Given the description of an element on the screen output the (x, y) to click on. 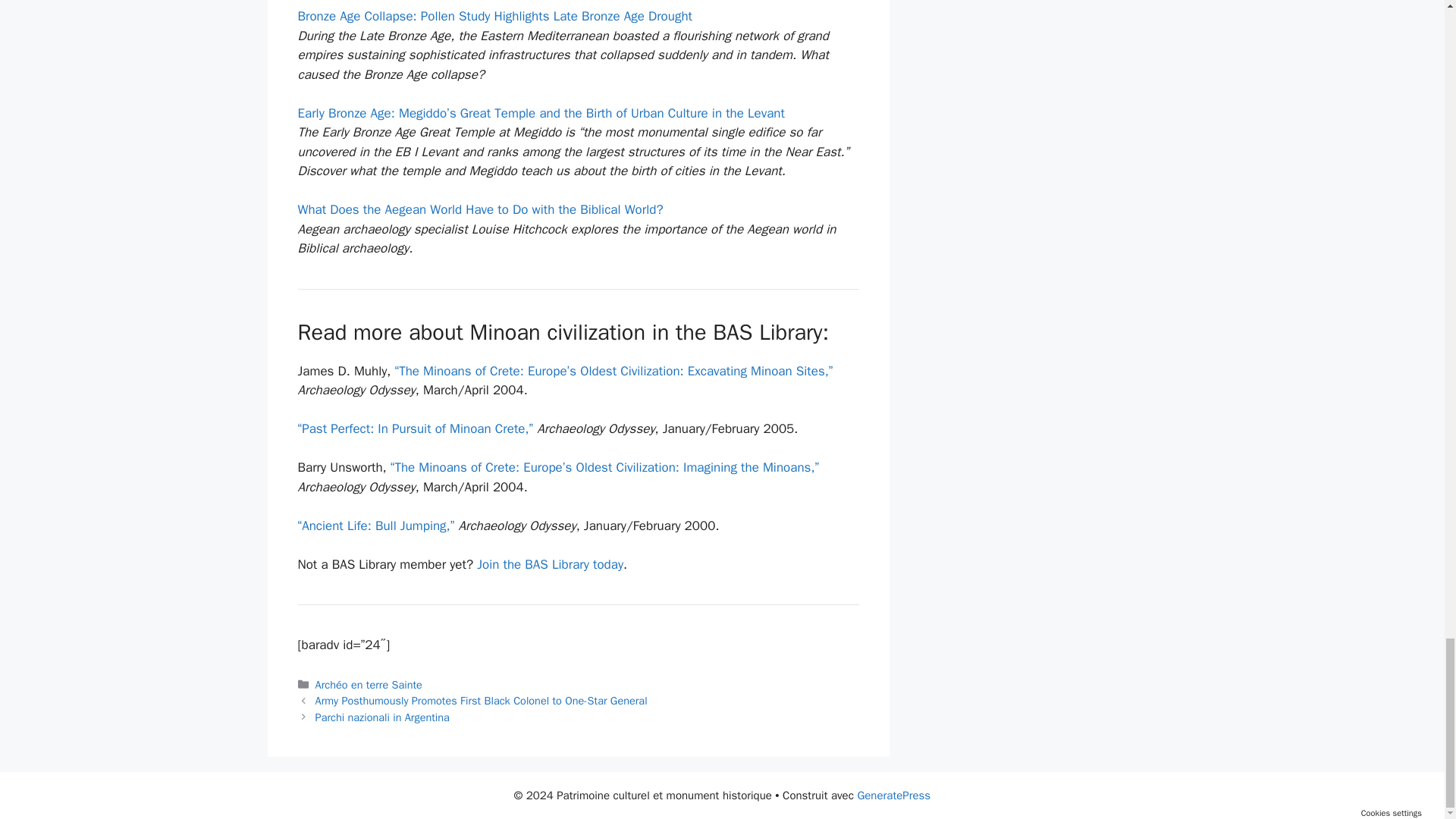
Suivant (382, 716)
Parchi nazionali in Argentina (382, 716)
Join the BAS Library today (550, 564)
